Given the description of an element on the screen output the (x, y) to click on. 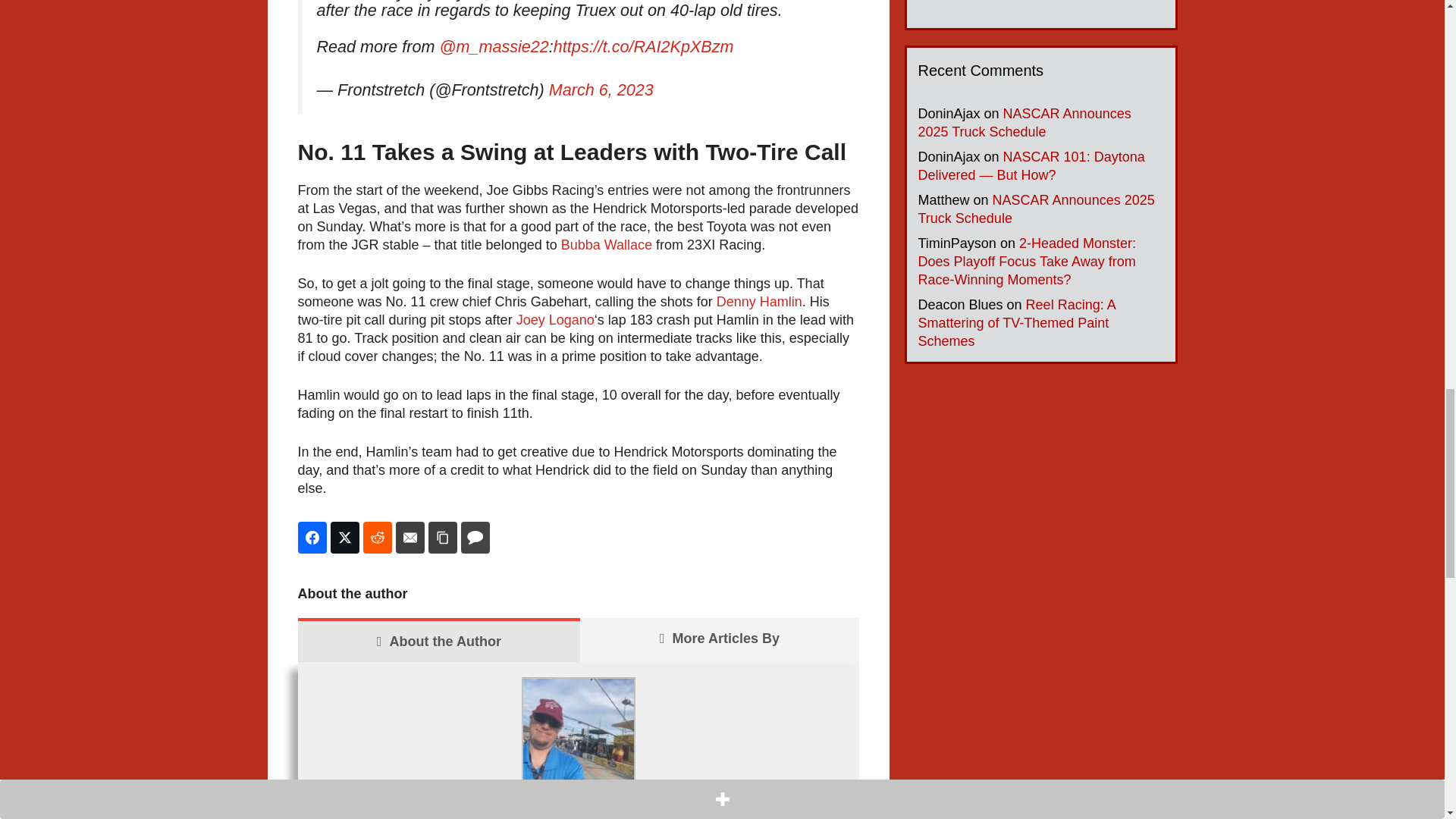
Bubba Wallace (606, 244)
Joey Logano (555, 319)
Share on Twitter (344, 537)
Share on Comments (475, 537)
Share on Reddit (376, 537)
Share on Copy Link (442, 537)
Share on Email (410, 537)
Brad Harrison (368, 812)
Share on Facebook (311, 537)
Denny Hamlin (759, 301)
